Given the description of an element on the screen output the (x, y) to click on. 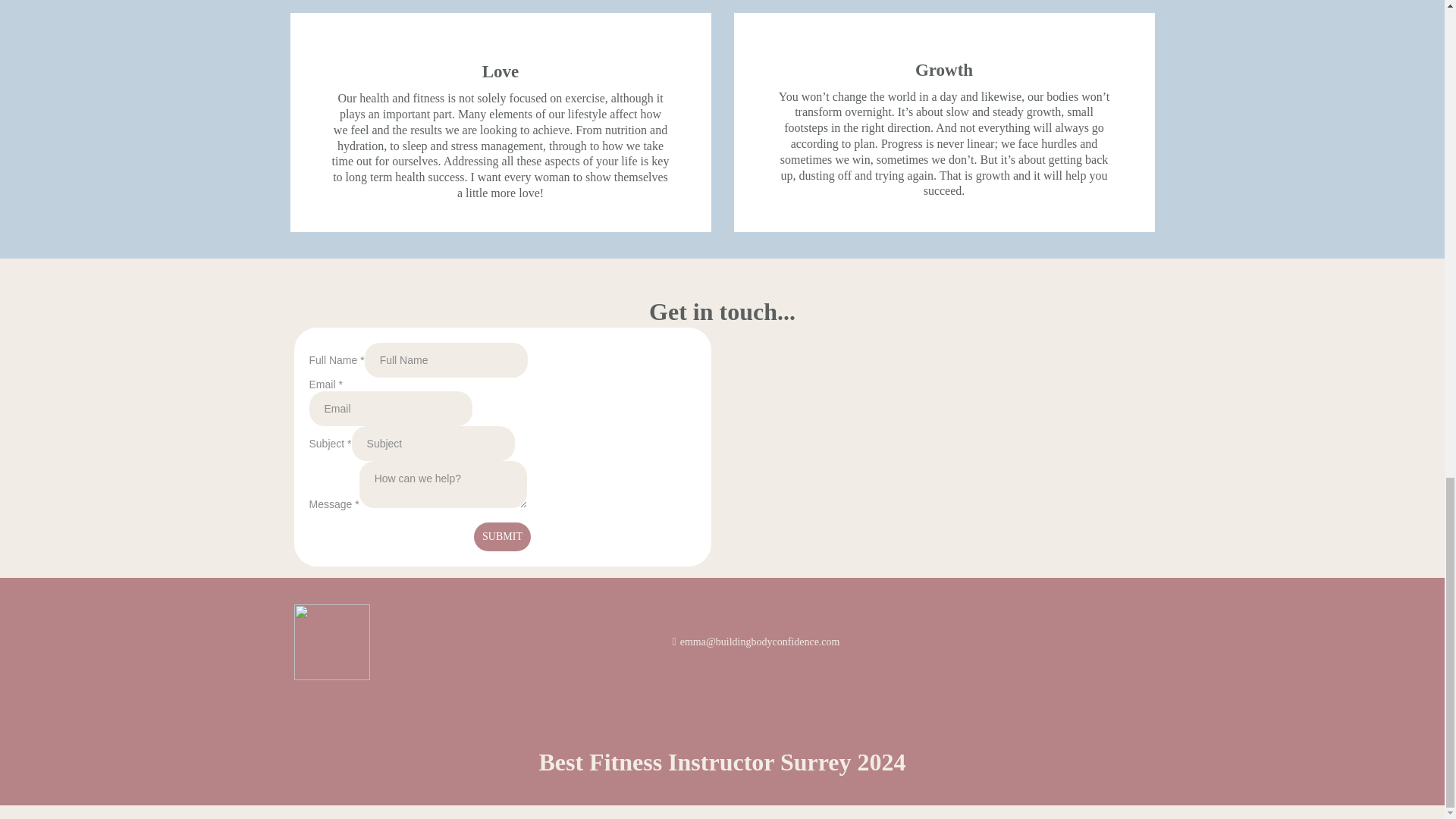
SUBMIT (502, 536)
